Given the description of an element on the screen output the (x, y) to click on. 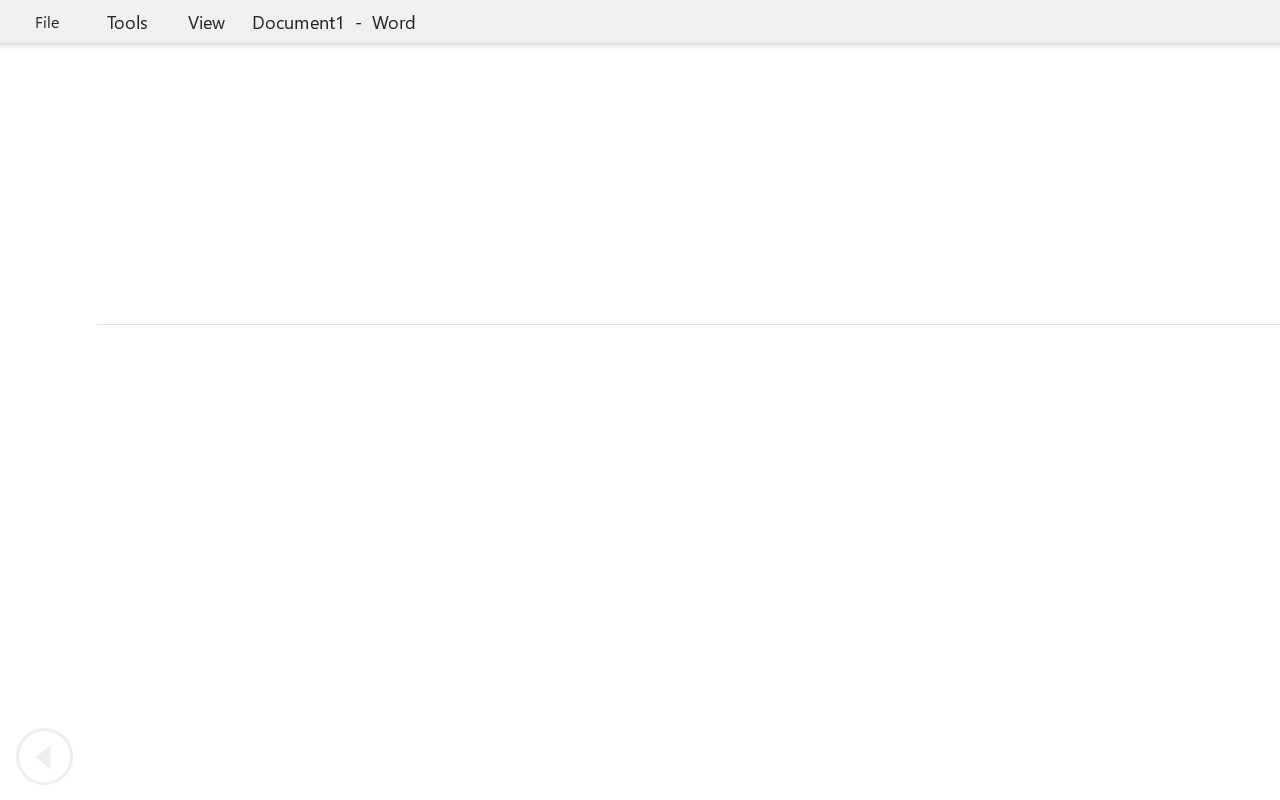
Tools (127, 21)
